Given the description of an element on the screen output the (x, y) to click on. 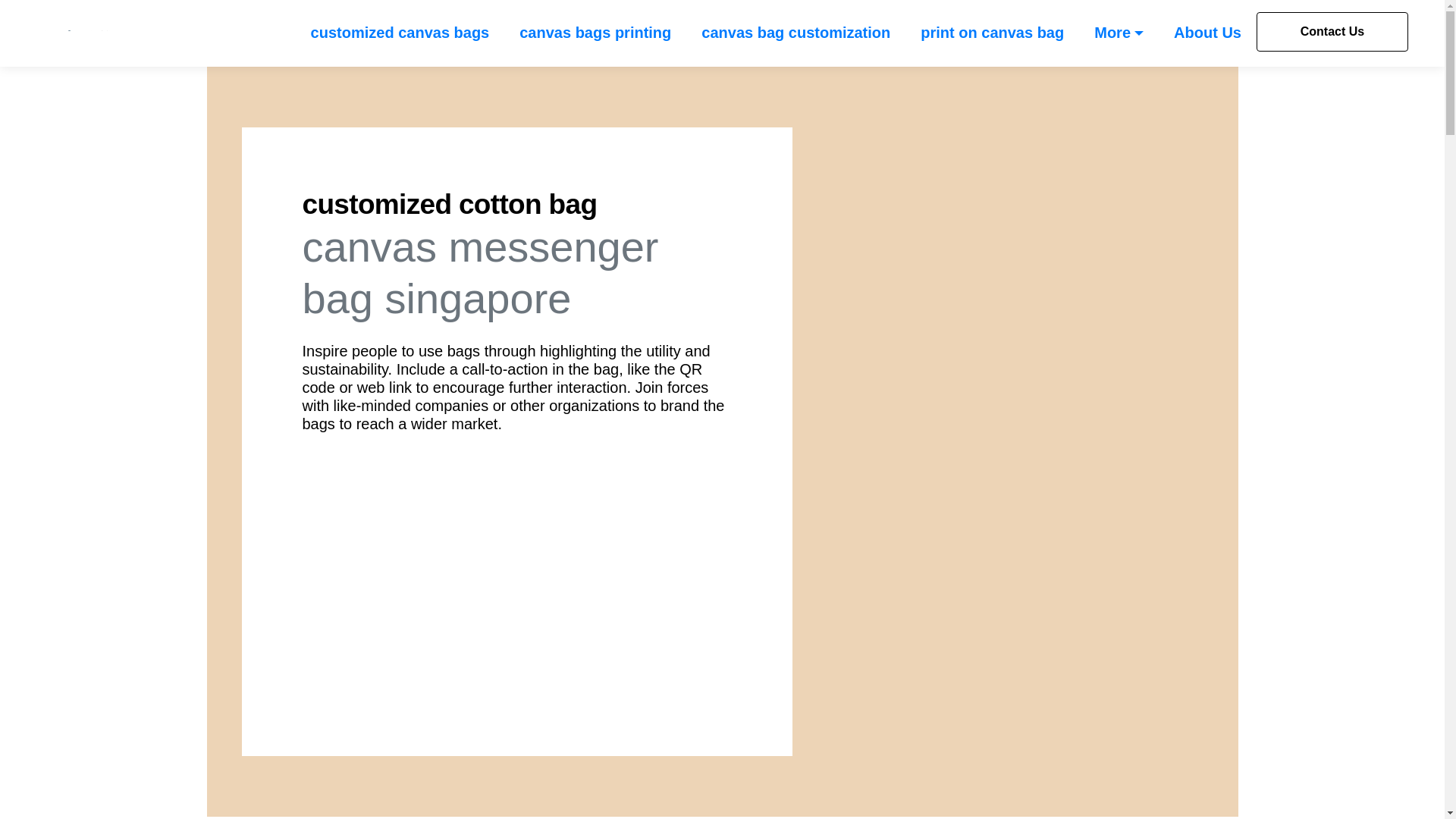
More (1118, 33)
canvas messenger bag singapore (516, 570)
print on canvas bag (992, 33)
canvas bags printing (595, 33)
customized canvas bags (400, 33)
canvas bag customization (795, 33)
